Given the description of an element on the screen output the (x, y) to click on. 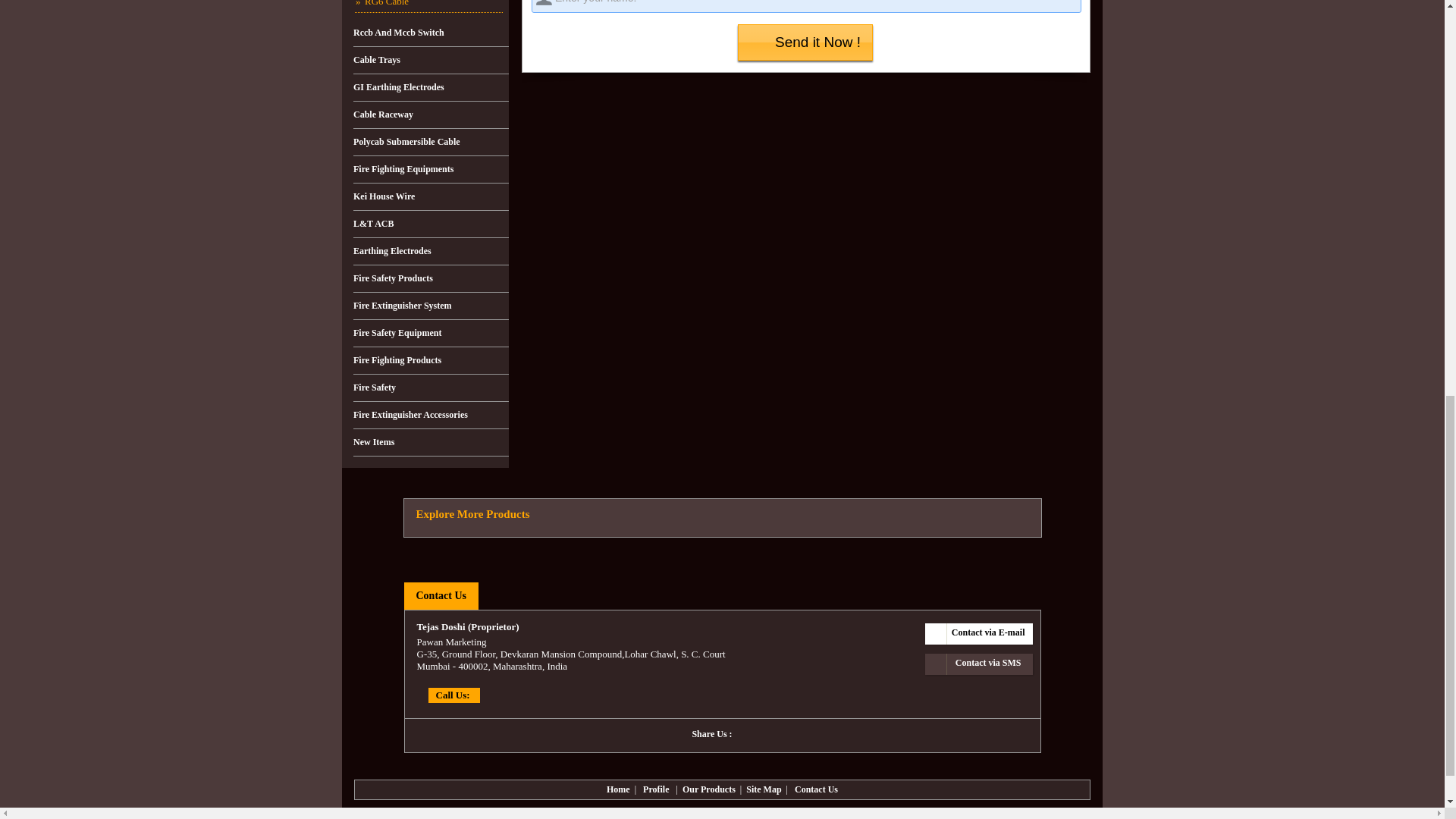
Send it Now ! (805, 42)
Send it Now ! (805, 42)
Enter your name: (806, 6)
